Given the description of an element on the screen output the (x, y) to click on. 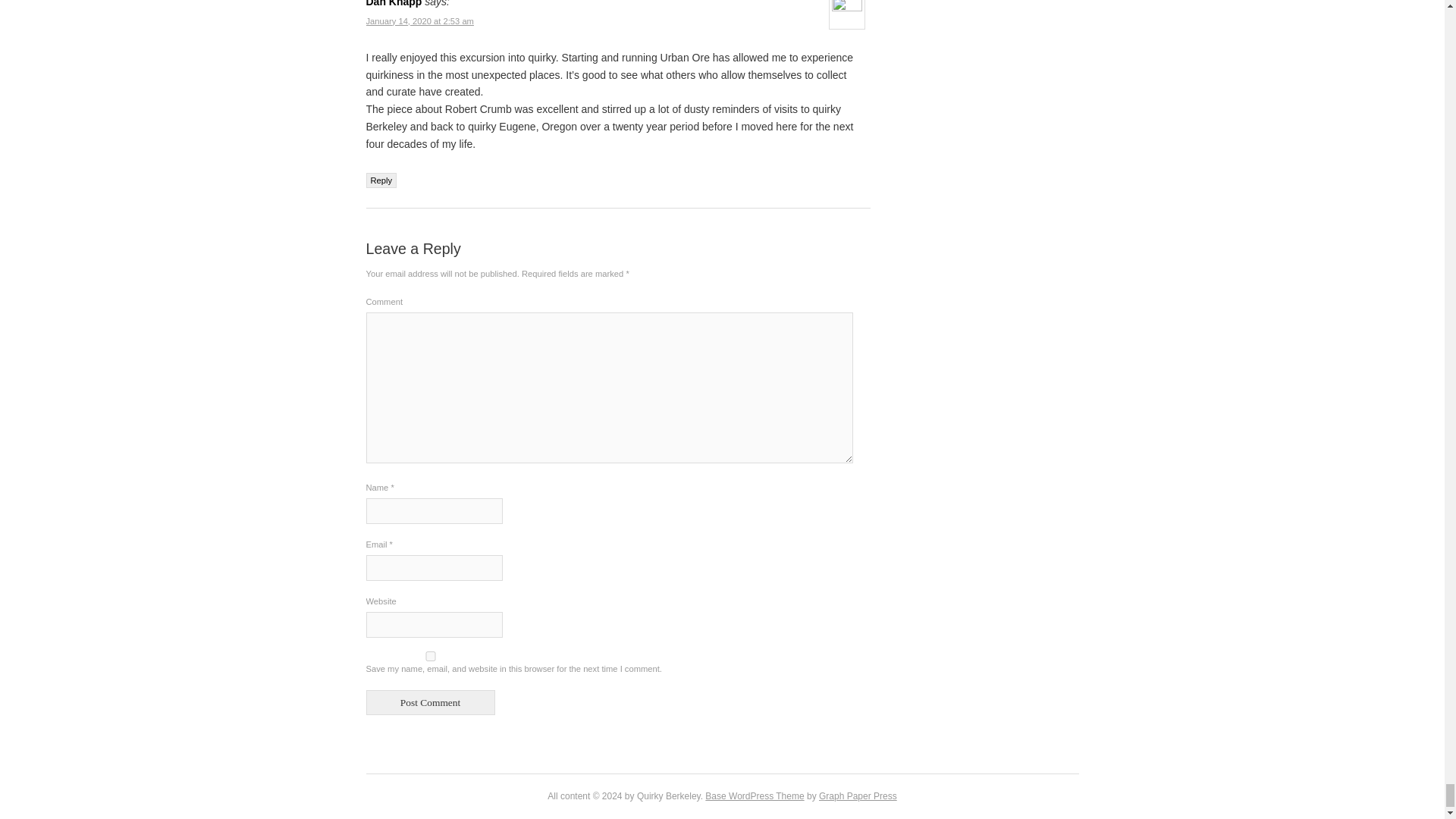
yes (430, 655)
Post Comment (430, 702)
Graph Paper Press (857, 796)
Base WordPress theme (753, 796)
